Given the description of an element on the screen output the (x, y) to click on. 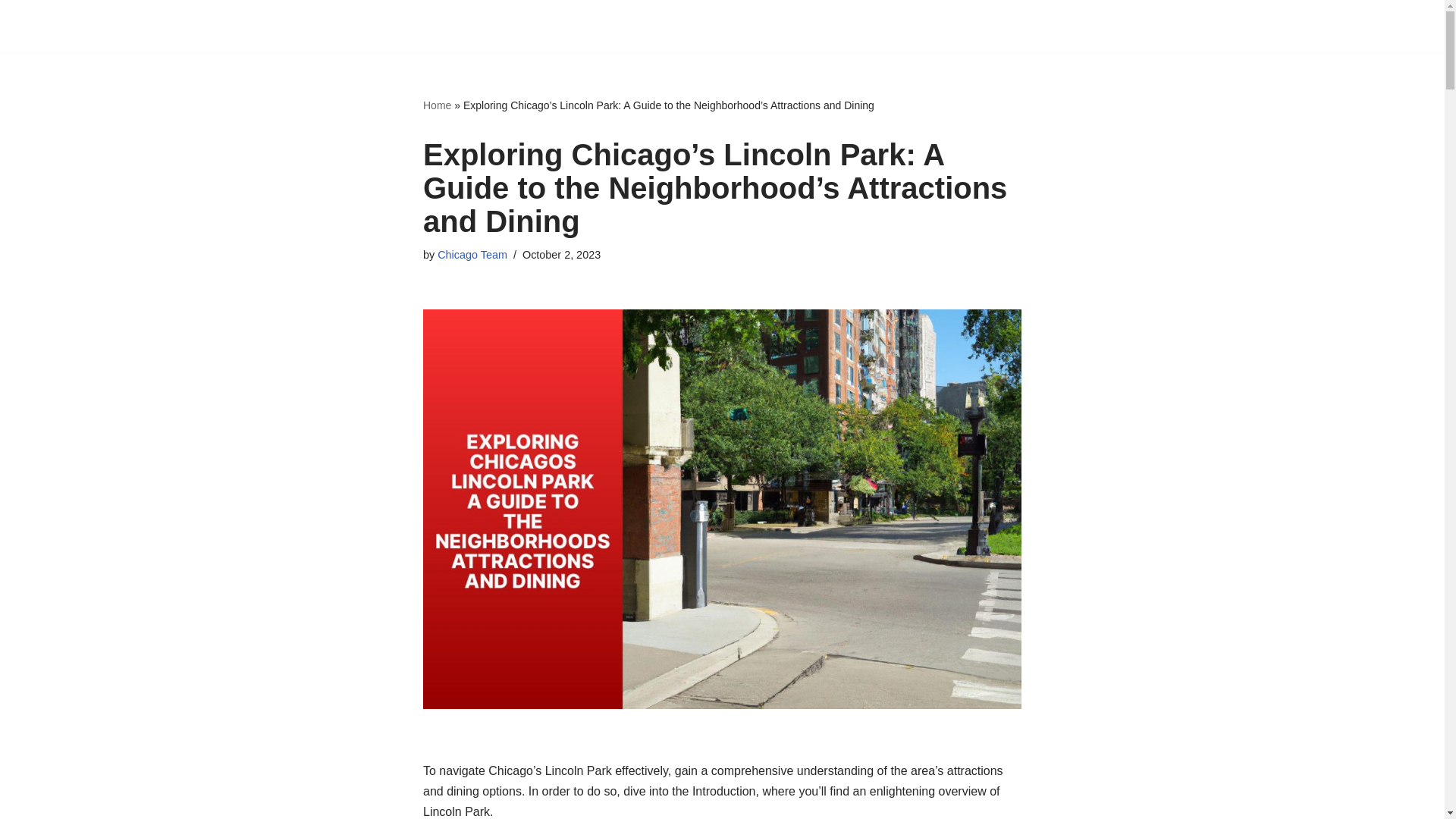
Chicago Team (472, 254)
Posts by Chicago Team (472, 254)
Skip to content (11, 31)
Home (437, 105)
